Given the description of an element on the screen output the (x, y) to click on. 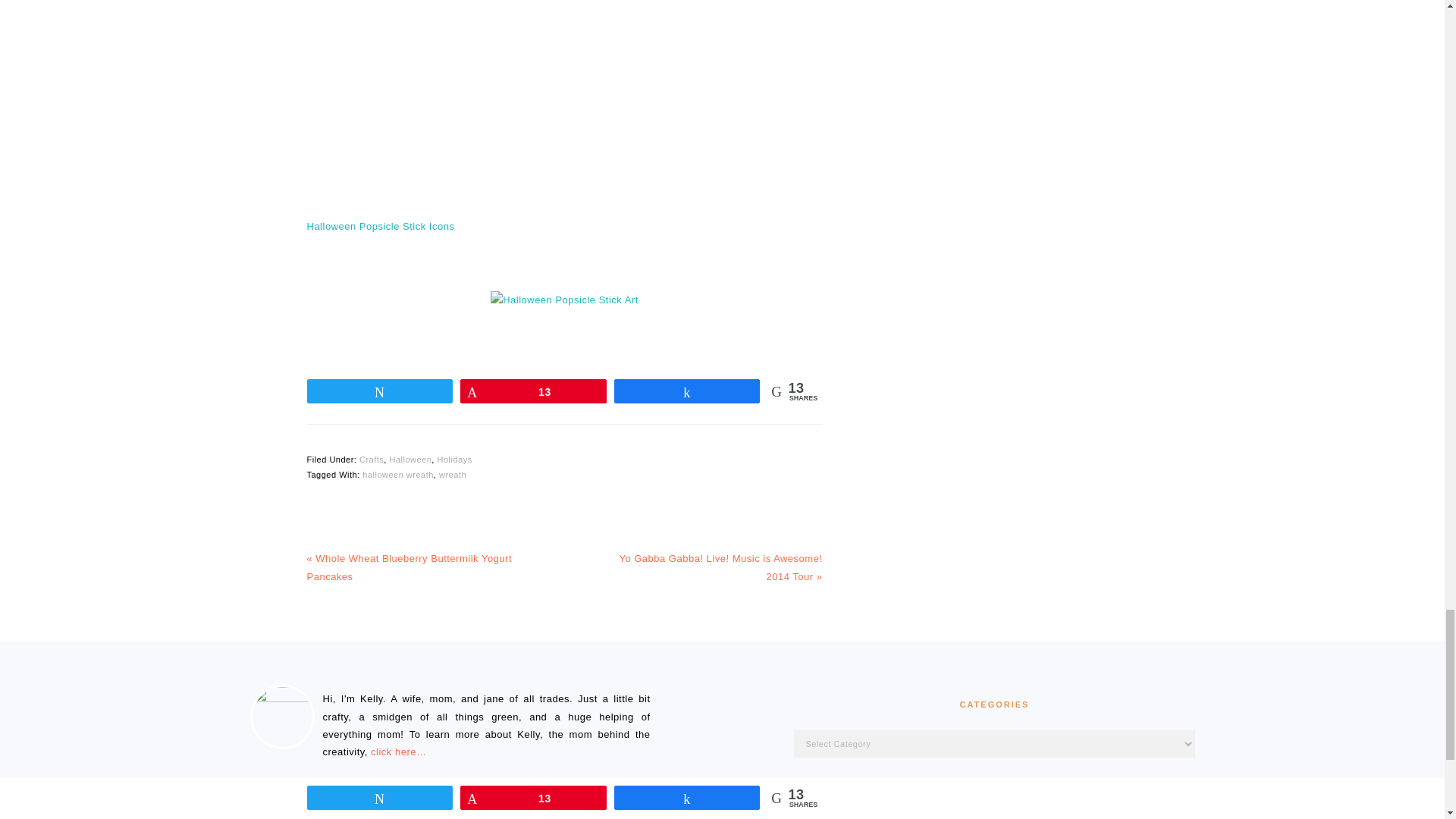
Holidays (453, 459)
Crafts (371, 459)
Halloween Popsicle Stick Icons (379, 225)
13 (533, 391)
Halloween Popsicle Stick Icons (379, 225)
halloween wreath (397, 474)
wreath (452, 474)
Halloween (409, 459)
